Given the description of an element on the screen output the (x, y) to click on. 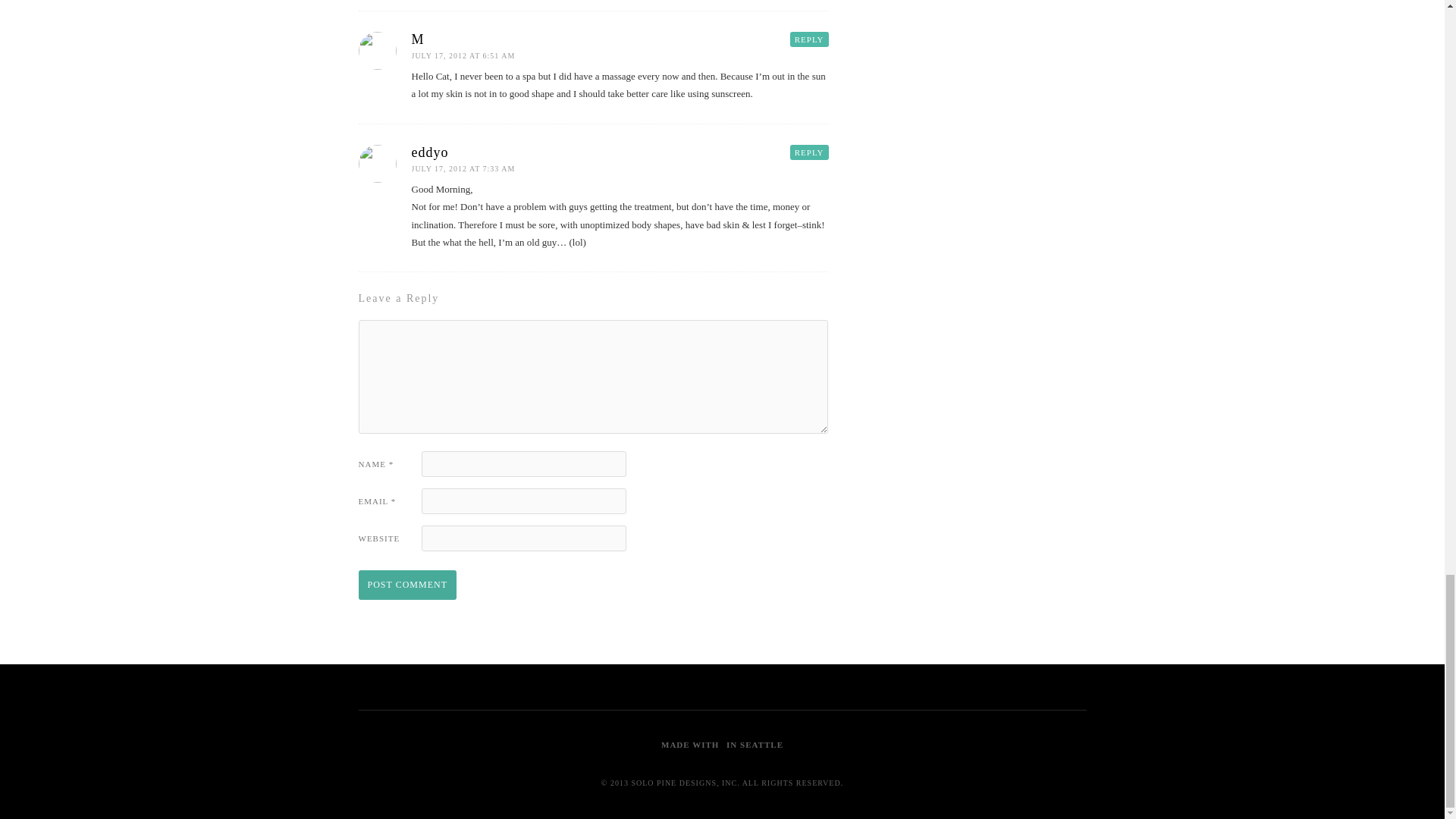
REPLY (809, 151)
Post Comment (406, 584)
REPLY (809, 38)
Post Comment (406, 584)
